Given the description of an element on the screen output the (x, y) to click on. 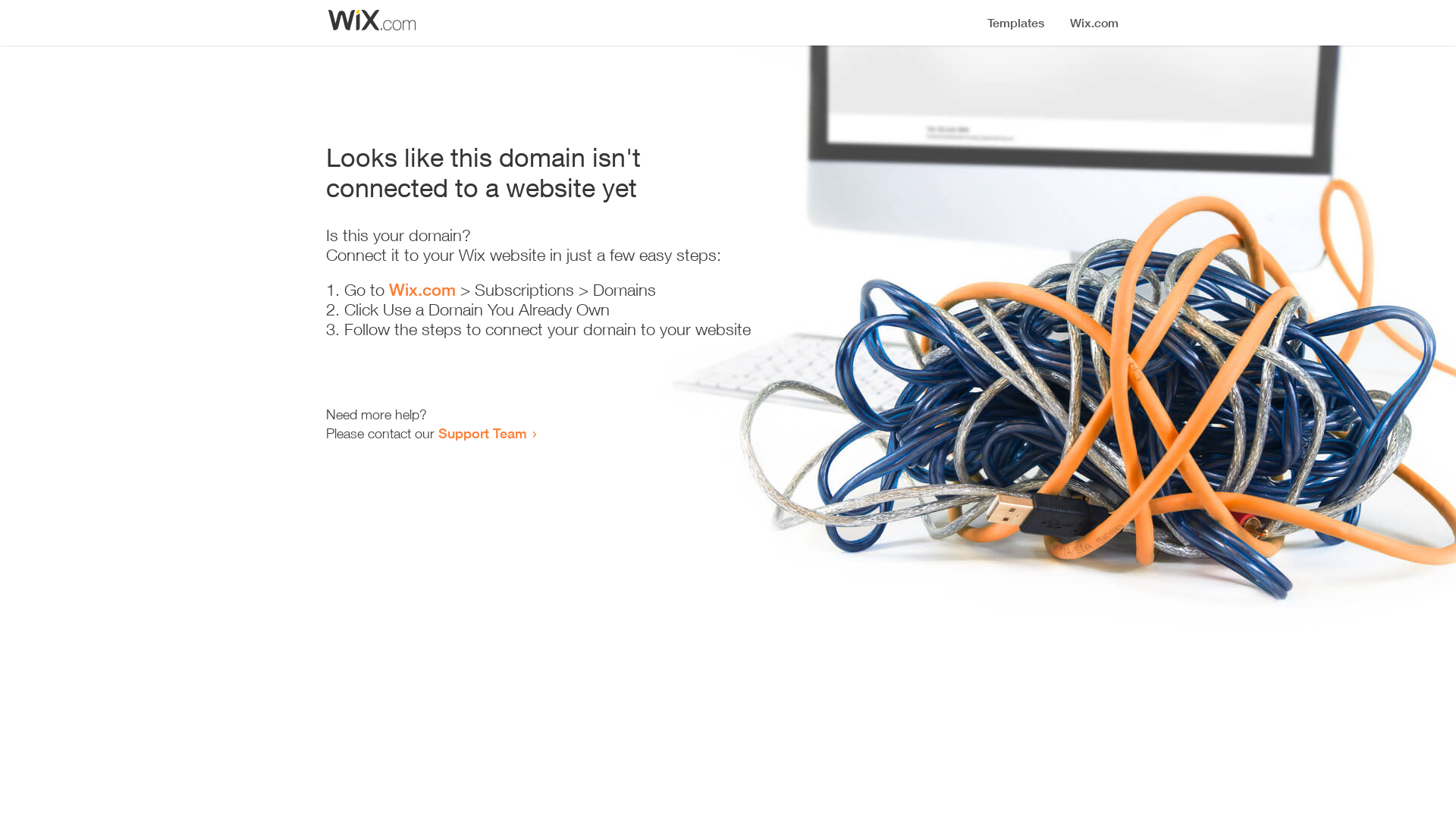
Support Team Element type: text (482, 432)
Wix.com Element type: text (422, 289)
